Given the description of an element on the screen output the (x, y) to click on. 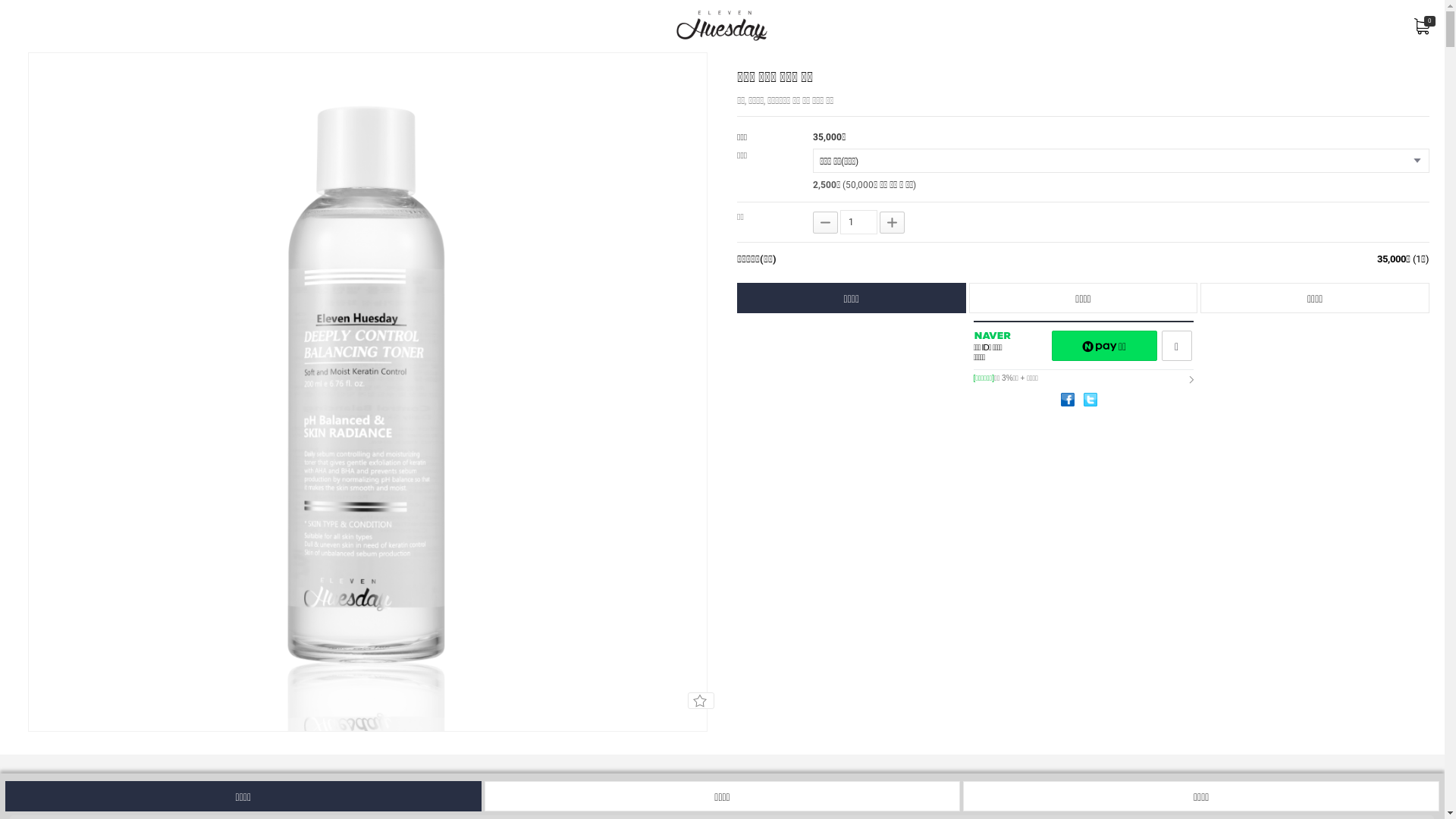
0 Element type: text (1421, 25)
